Given the description of an element on the screen output the (x, y) to click on. 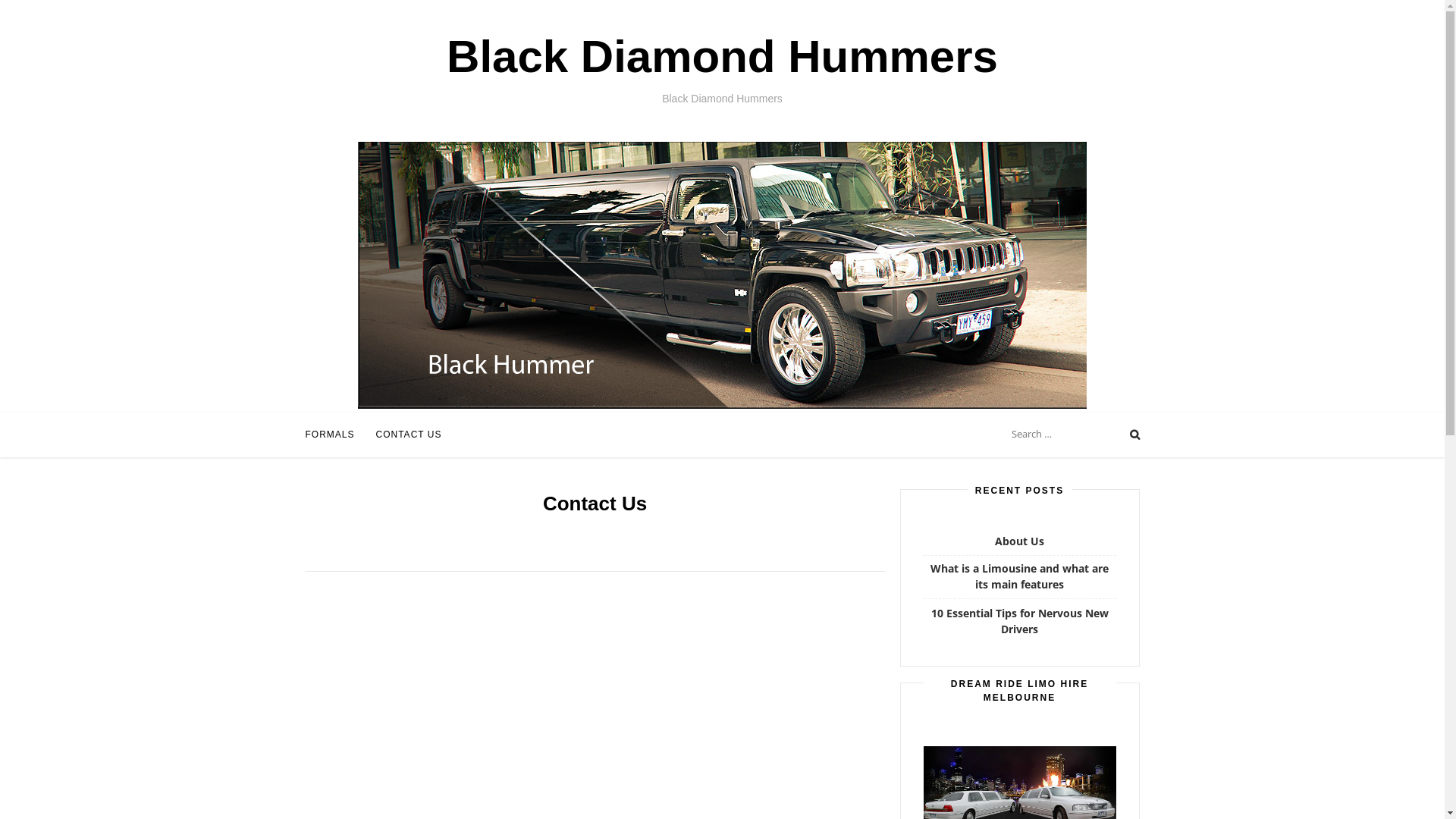
What is a Limousine and what are its main features Element type: text (1019, 576)
Search Element type: text (26, 12)
Skip to content Element type: text (0, 22)
CONTACT US Element type: text (409, 434)
Black Diamond Hummers Element type: text (721, 56)
FORMALS Element type: text (329, 434)
10 Essential Tips for Nervous New Drivers Element type: text (1019, 620)
About Us Element type: text (1019, 540)
